Given the description of an element on the screen output the (x, y) to click on. 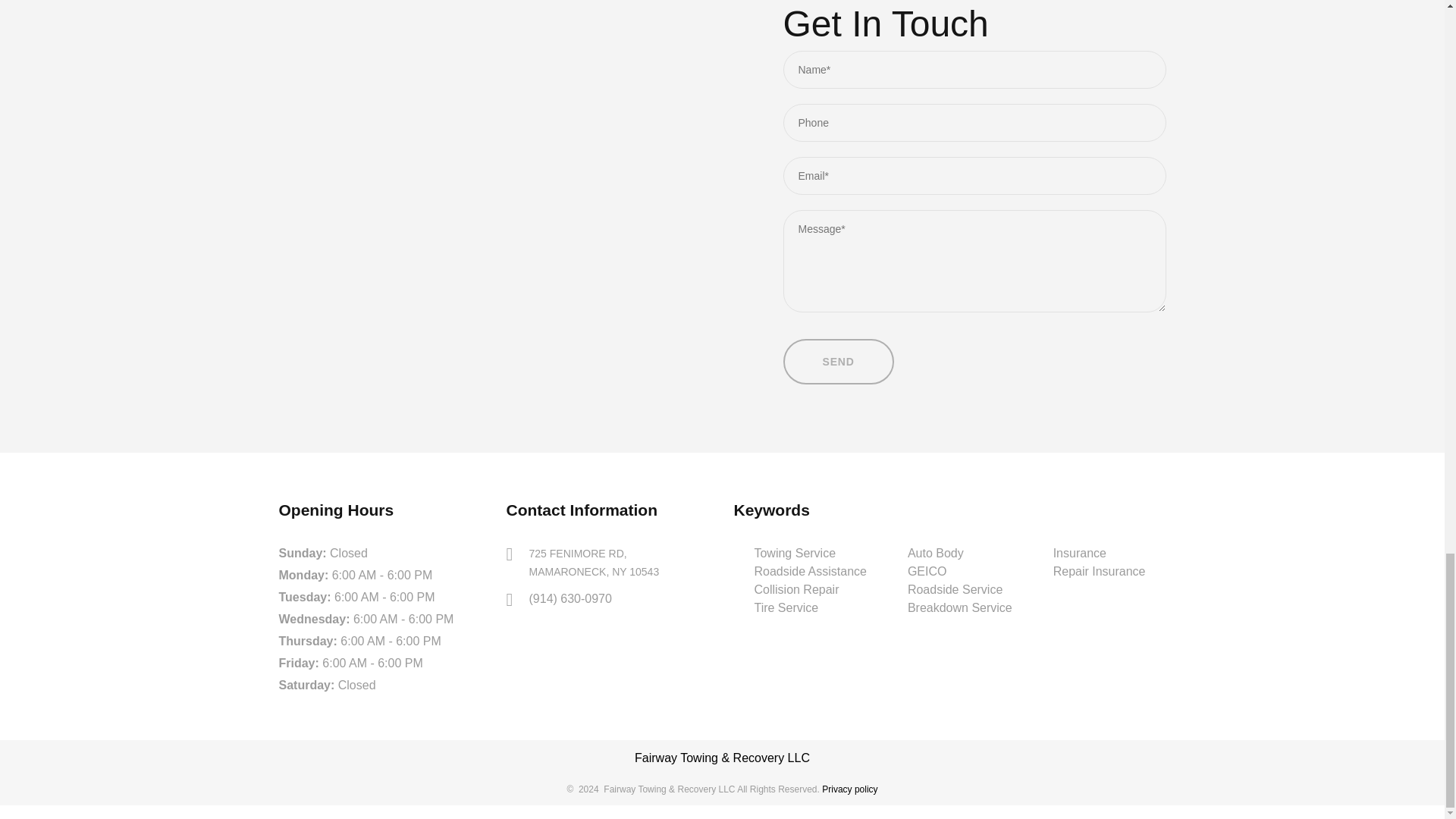
Collision Repair (796, 589)
SEND (838, 361)
Roadside Service (955, 589)
Tire Service (786, 607)
Roadside Assistance (810, 571)
Privacy policy (849, 788)
Roadside Service (955, 589)
Auto Body (594, 562)
Towing Service (959, 553)
Towing Service (794, 553)
Repair Insurance (794, 553)
Repair Insurance (1098, 571)
Insurance (1098, 571)
Collision Repair (1079, 553)
